Given the description of an element on the screen output the (x, y) to click on. 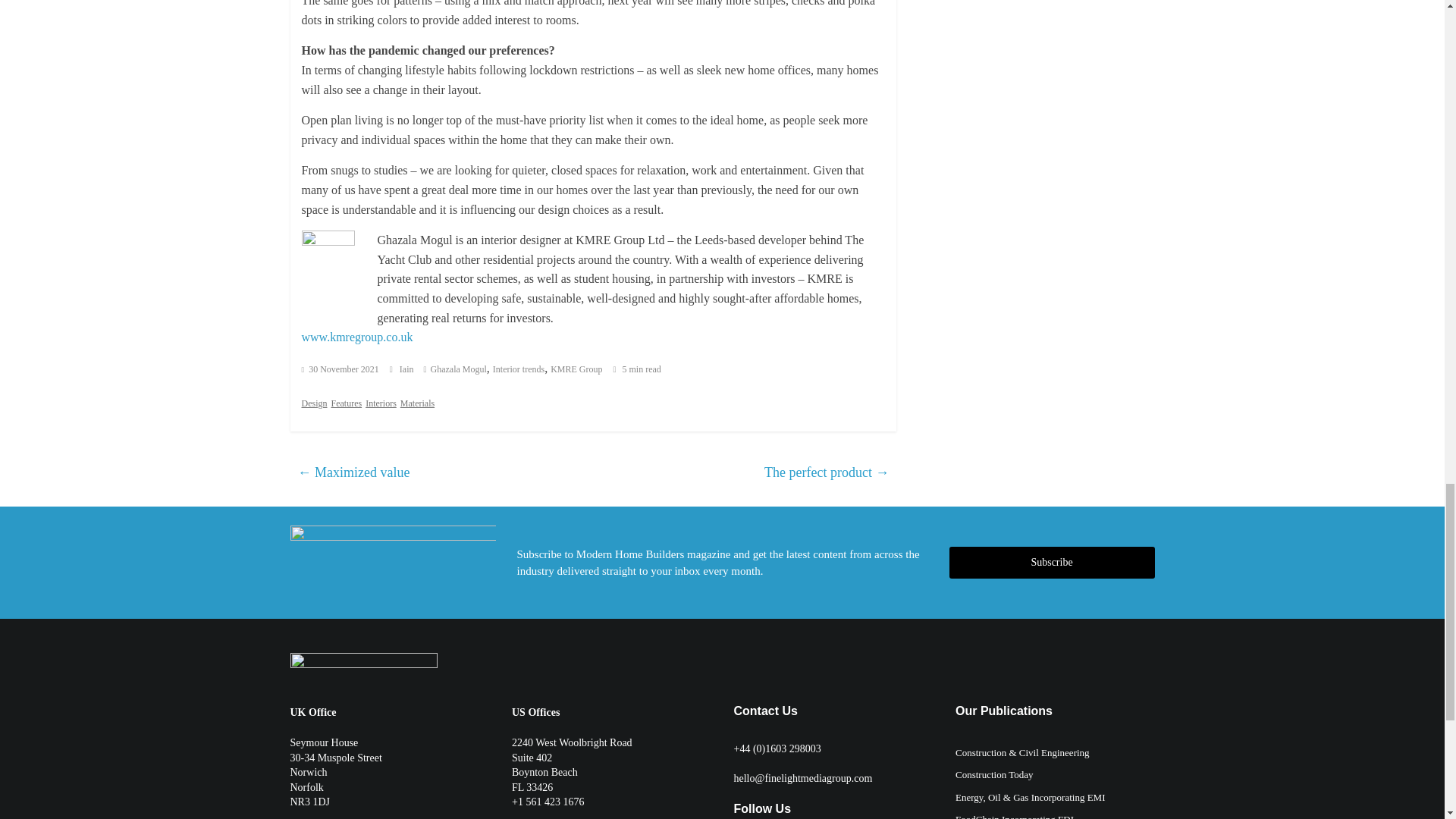
Interiors (380, 403)
9:51 am (339, 368)
Materials (416, 403)
Features (345, 403)
Design (314, 403)
Ghazala Mogul (458, 368)
Iain (407, 368)
30 November 2021 (339, 368)
KMRE Group (576, 368)
Interior trends (518, 368)
